Given the description of an element on the screen output the (x, y) to click on. 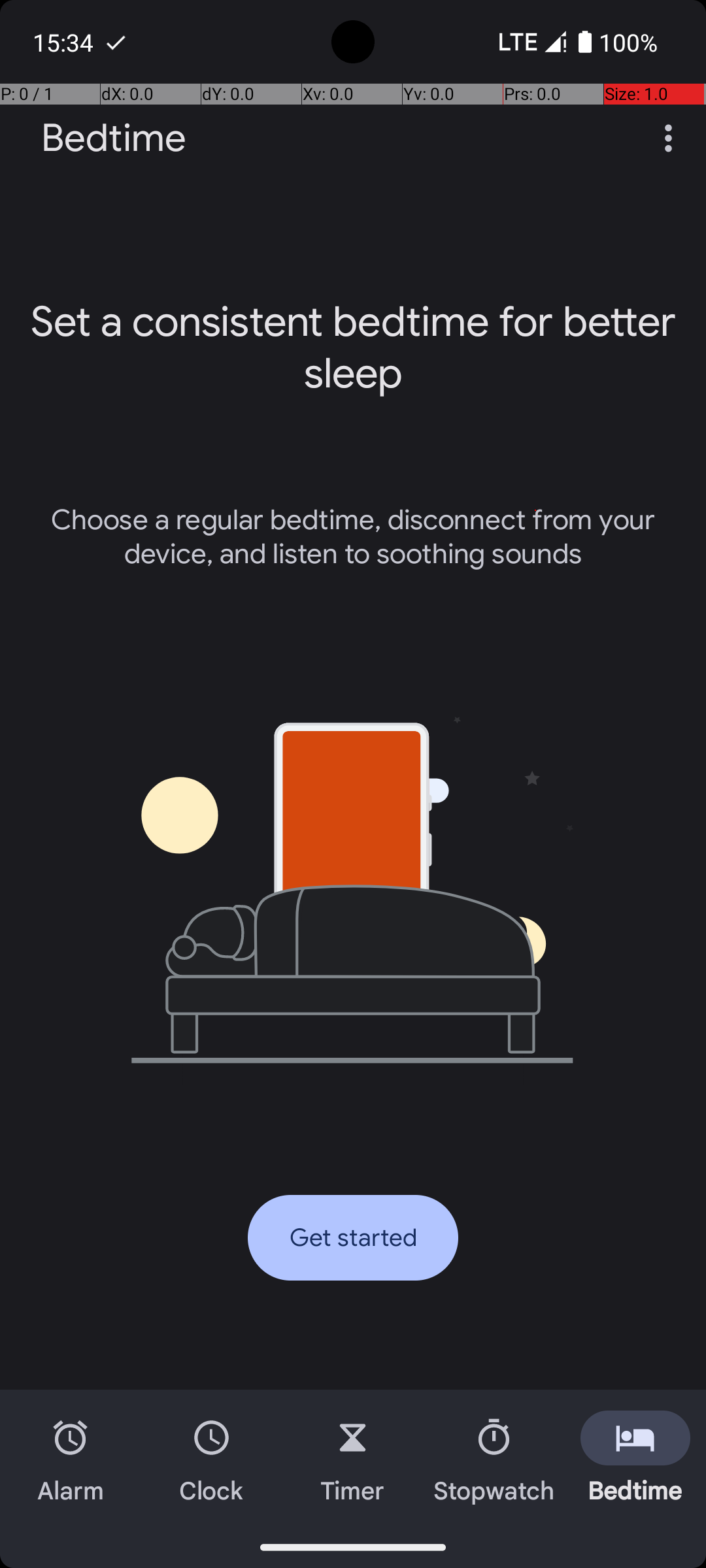
Contacts notification: Finished exporting contacts.vcf. Element type: android.widget.ImageView (115, 41)
